Given the description of an element on the screen output the (x, y) to click on. 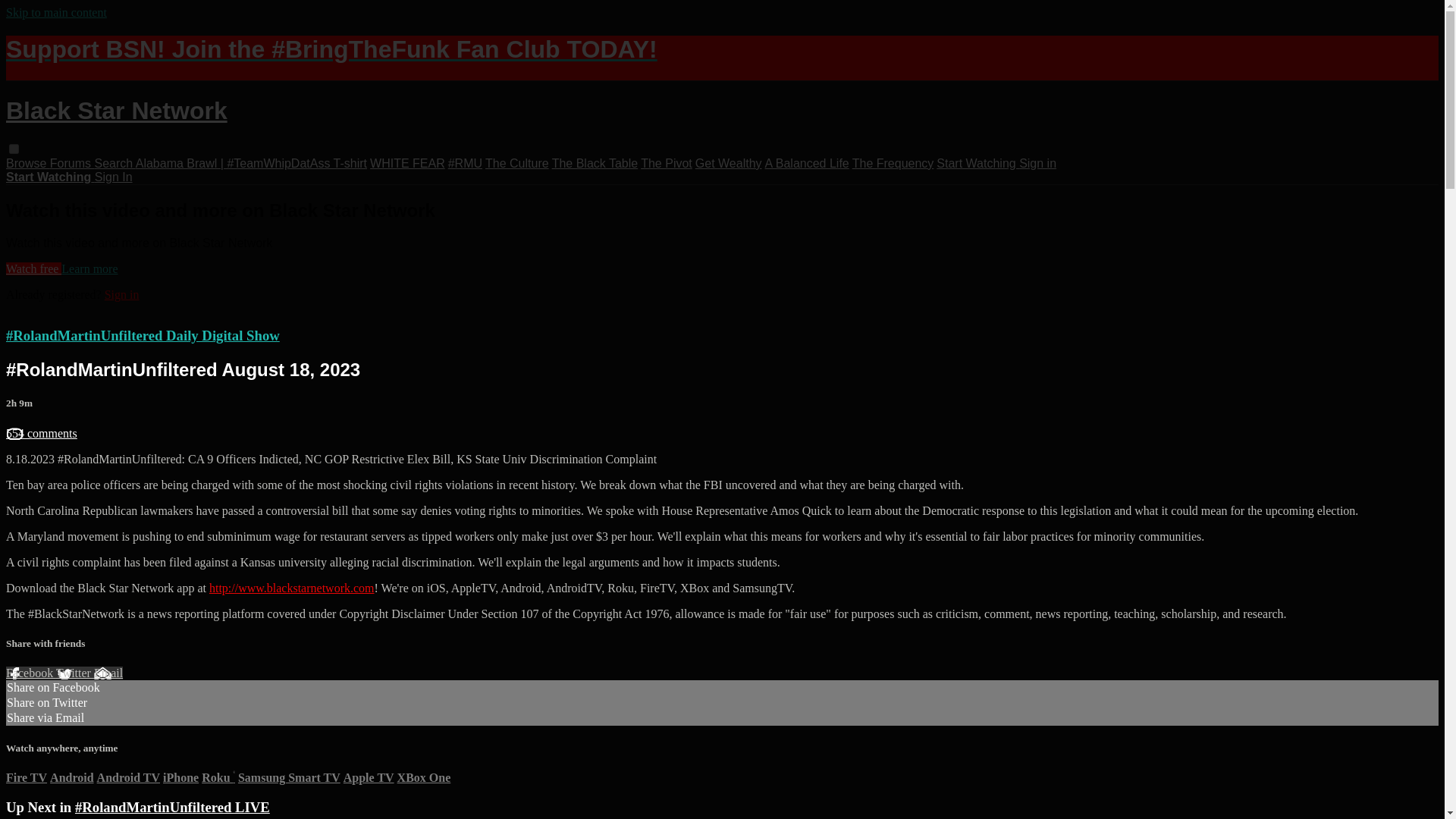
Get Wealthy (728, 163)
Black Star Network (116, 110)
Samsung Smart TV (289, 777)
Sign in (121, 294)
A Balanced Life (806, 163)
554 comments (41, 432)
Facebook (30, 672)
The Black Table (595, 163)
WHITE FEAR (407, 163)
Start Watching (977, 163)
XBox One (424, 777)
Twitter (75, 672)
Watch free (33, 268)
View Latest Comments (41, 432)
Search (114, 163)
